Given the description of an element on the screen output the (x, y) to click on. 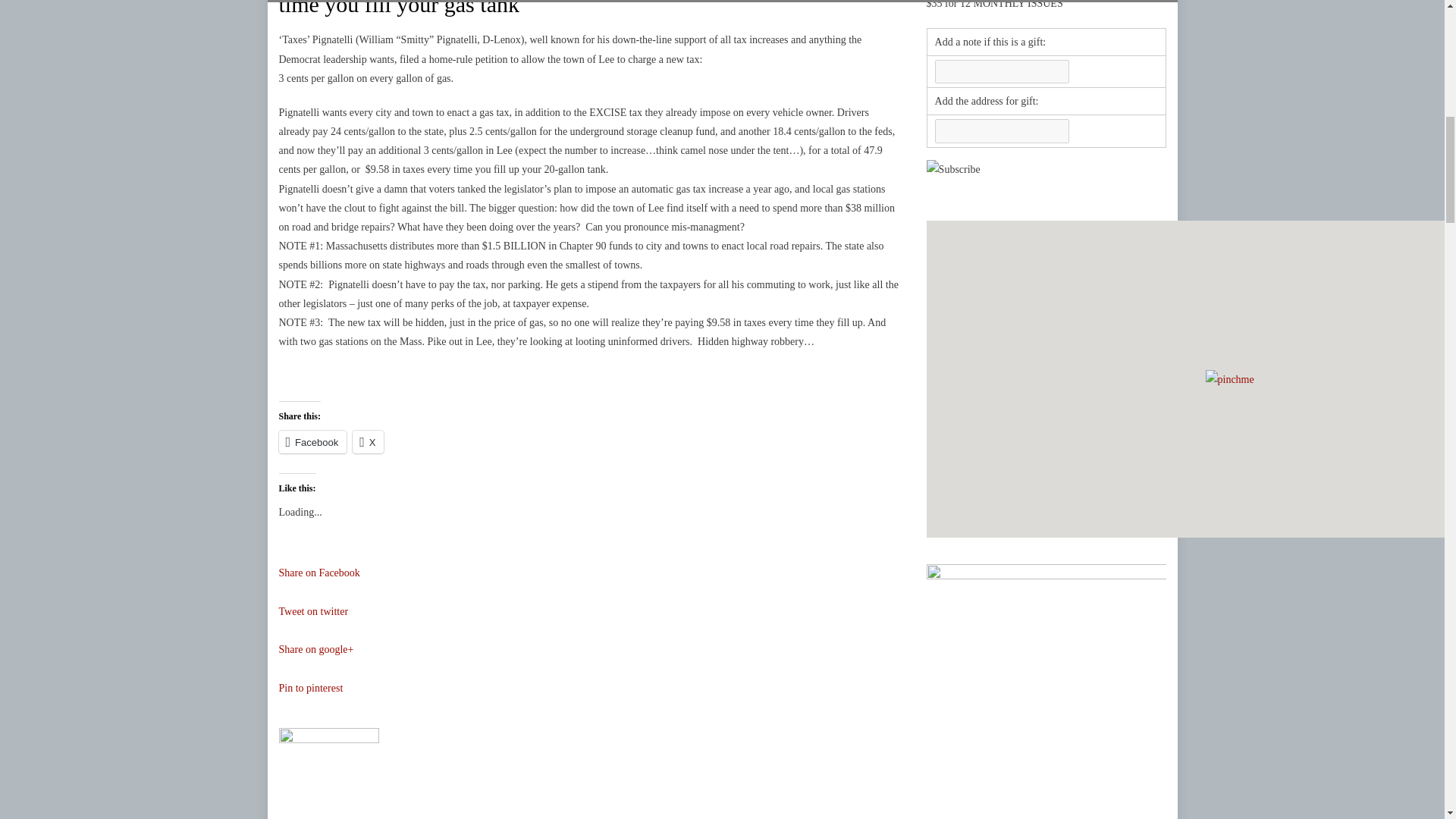
Click to share on X (368, 441)
PayPal - The safer, easier way to pay online! (952, 169)
X (368, 441)
Share on Facebook (589, 587)
Tweet on twitter (589, 626)
Pin to pinterest (589, 703)
Facebook (313, 441)
Click to share on Facebook (313, 441)
